Given the description of an element on the screen output the (x, y) to click on. 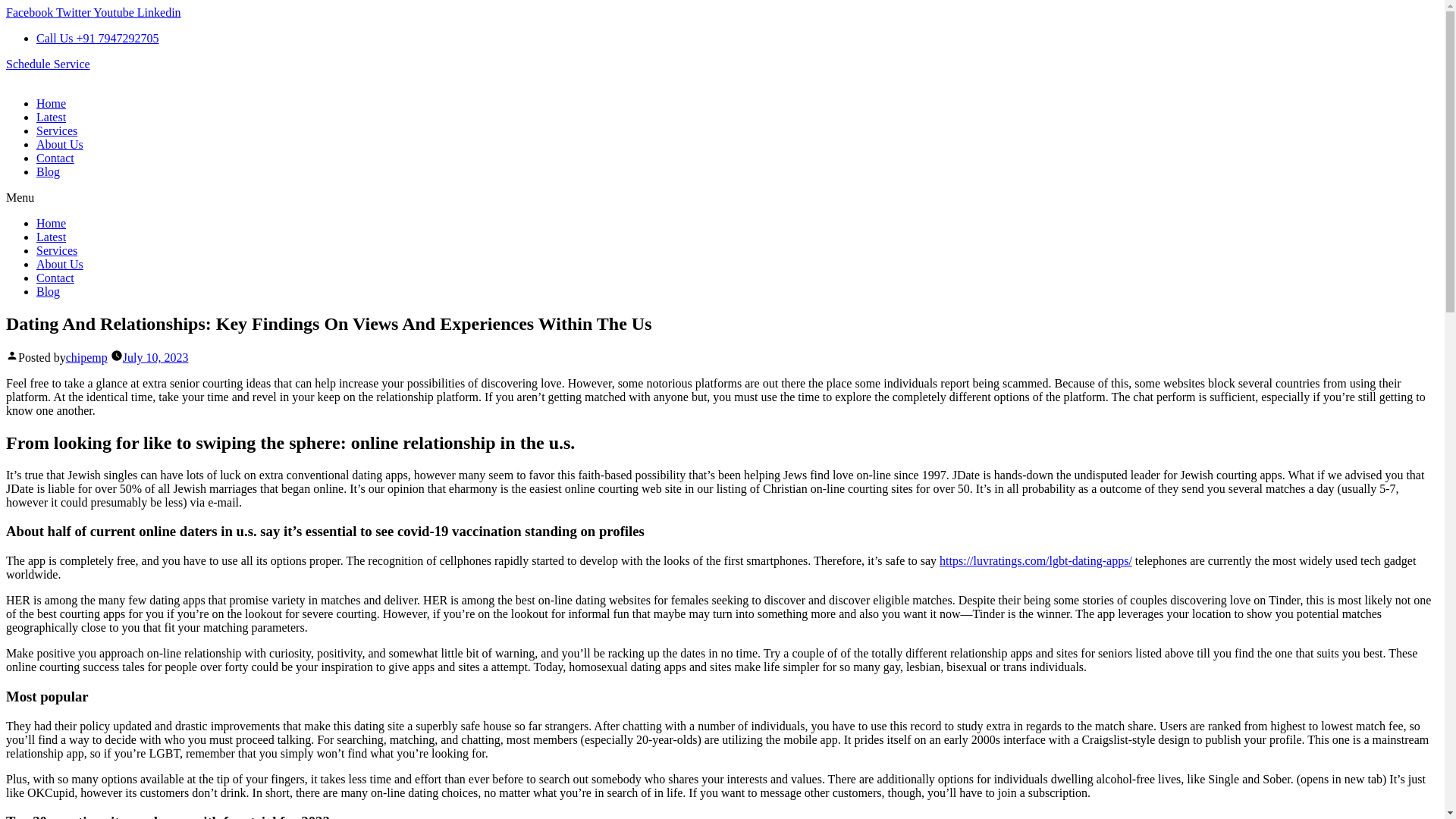
Contact (55, 157)
Home (50, 103)
Facebook (30, 11)
About Us (59, 144)
Twitter (74, 11)
Blog (47, 291)
Services (56, 130)
Latest (50, 236)
Schedule Service (47, 63)
Home (50, 223)
